Given the description of an element on the screen output the (x, y) to click on. 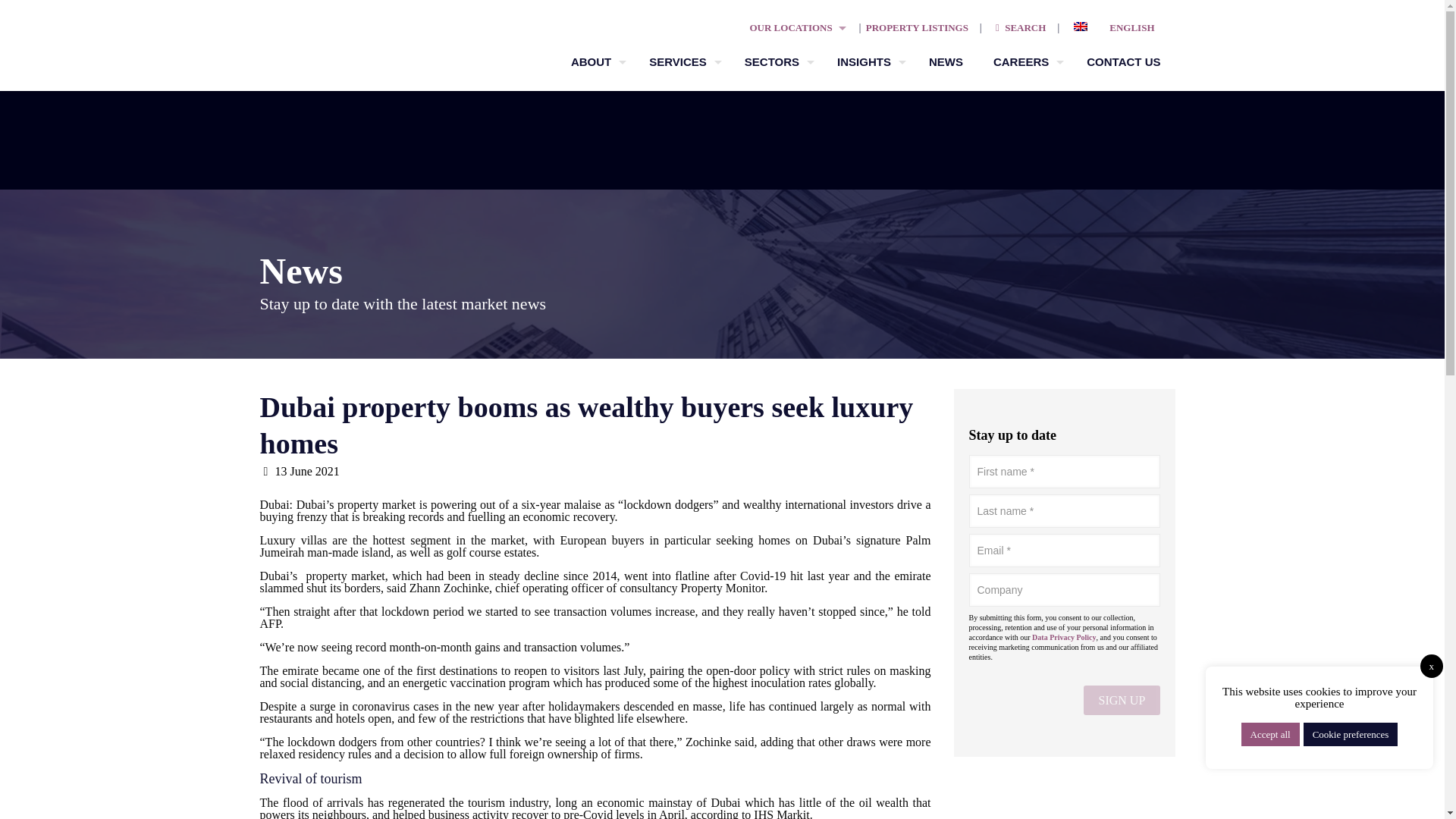
ENGLISH (1119, 27)
SEARCH (1019, 27)
English (1119, 27)
OUR LOCATIONS (790, 27)
SECTORS (775, 62)
ABOUT (594, 62)
SIGN UP (1121, 699)
SERVICES (681, 62)
PROPERTY LISTINGS (917, 27)
